Given the description of an element on the screen output the (x, y) to click on. 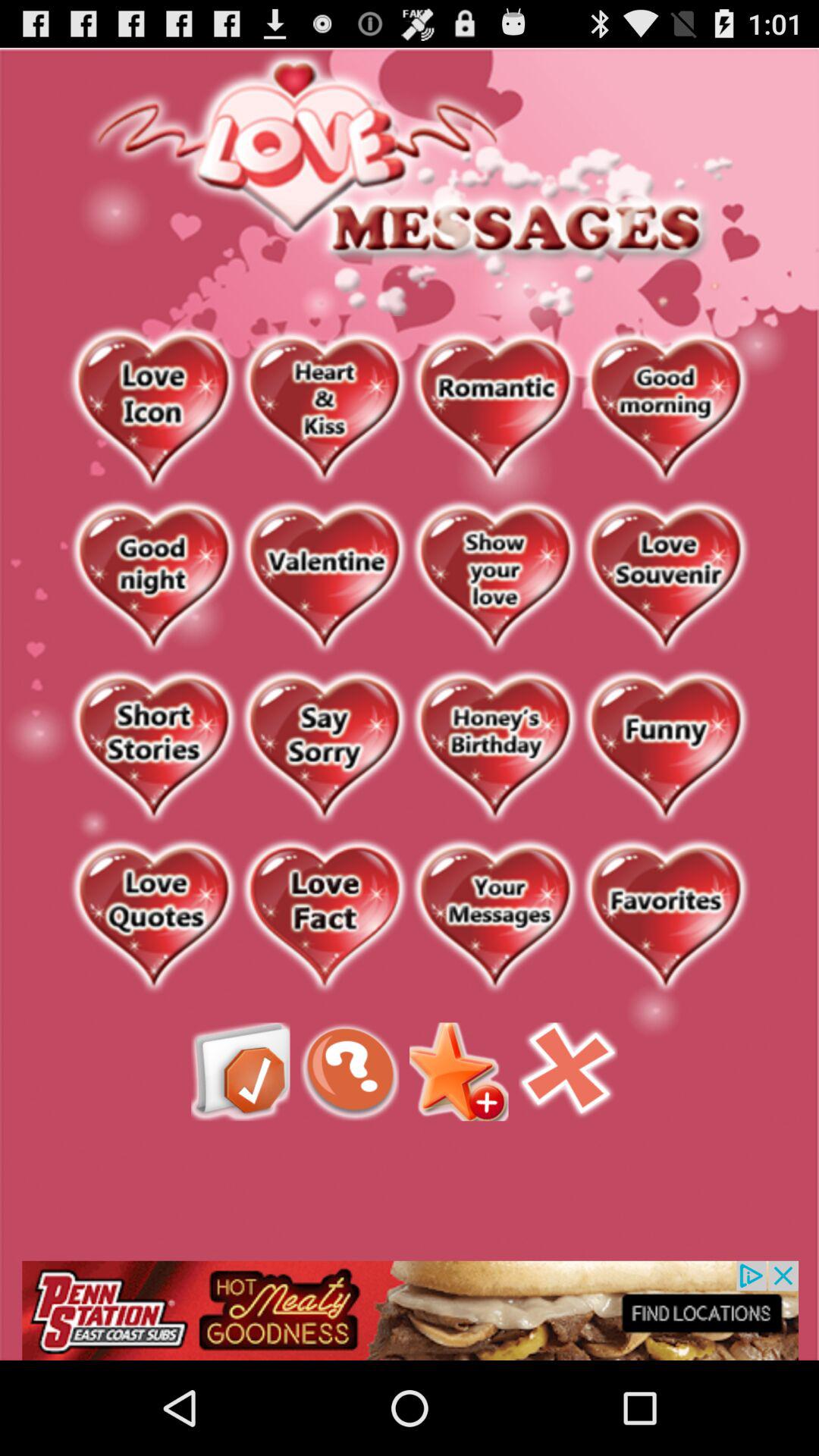
link button for short stories (153, 747)
